Given the description of an element on the screen output the (x, y) to click on. 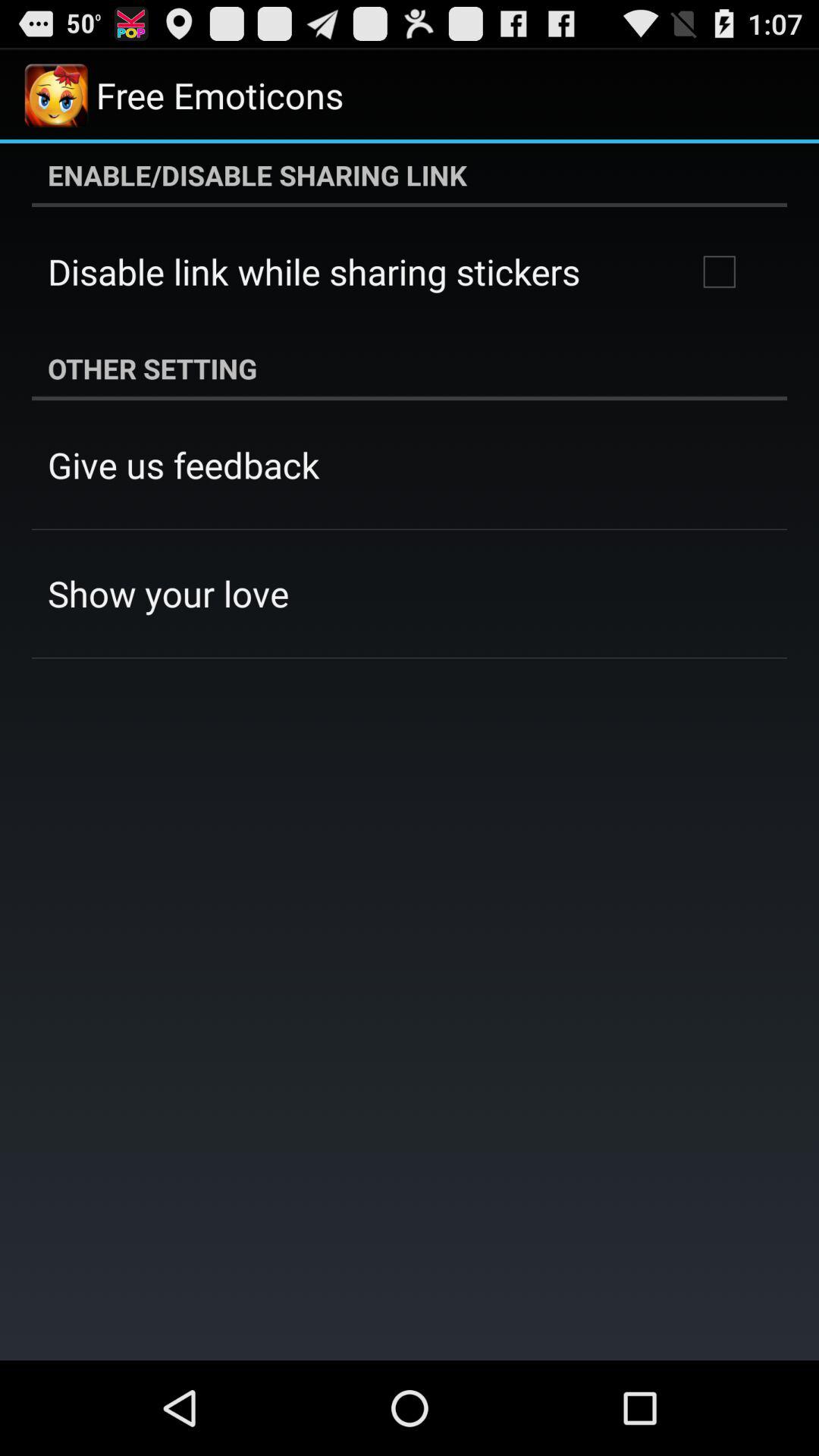
swipe to the give us feedback (183, 464)
